Given the description of an element on the screen output the (x, y) to click on. 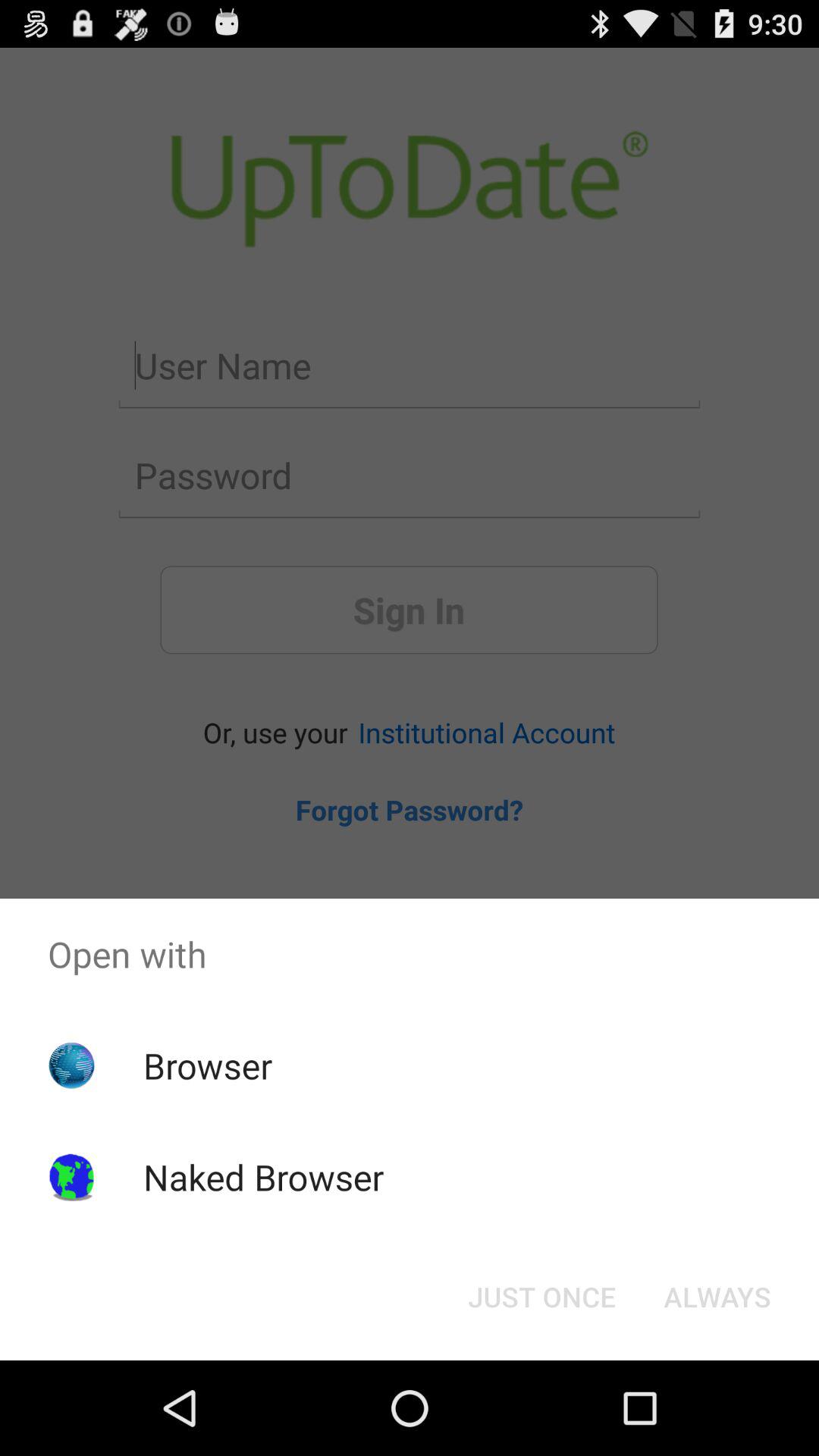
choose the just once item (541, 1296)
